Given the description of an element on the screen output the (x, y) to click on. 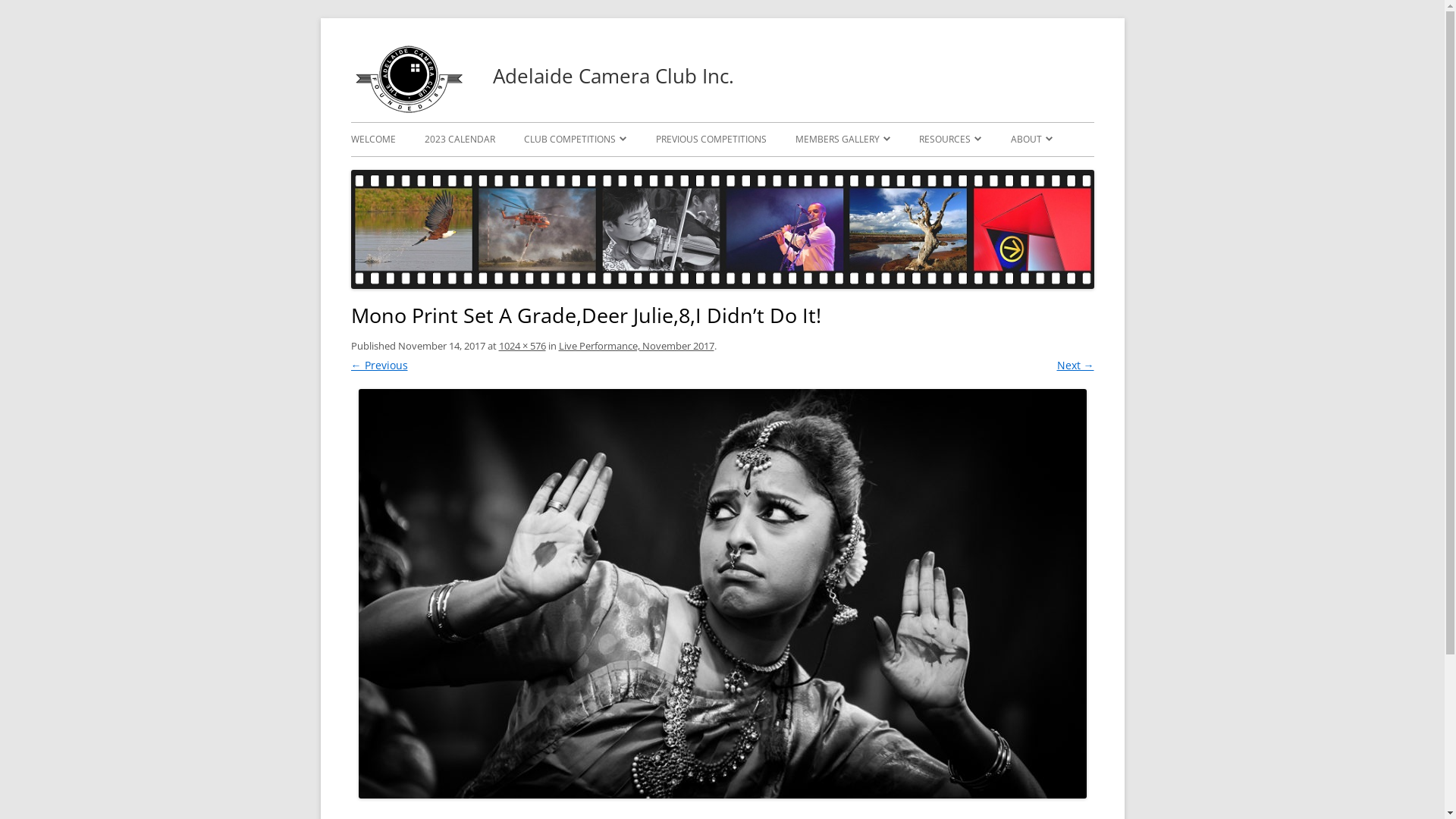
Adelaide Camera Club Inc. Element type: text (613, 75)
Adelaide Camera Club Inc. Element type: hover (405, 108)
MEMBERS GALLERY Element type: text (842, 139)
PREVIOUS COMPETITIONS Element type: text (710, 139)
Live Performance, November 2017 Element type: text (635, 345)
2023 CALENDAR Element type: text (459, 139)
Skip to content Element type: text (951, 50)
ABOUT Element type: text (1031, 139)
WELCOME Element type: text (372, 139)
CLUB COMPETITIONS Element type: text (575, 139)
RESOURCES Element type: text (950, 139)
